Given the description of an element on the screen output the (x, y) to click on. 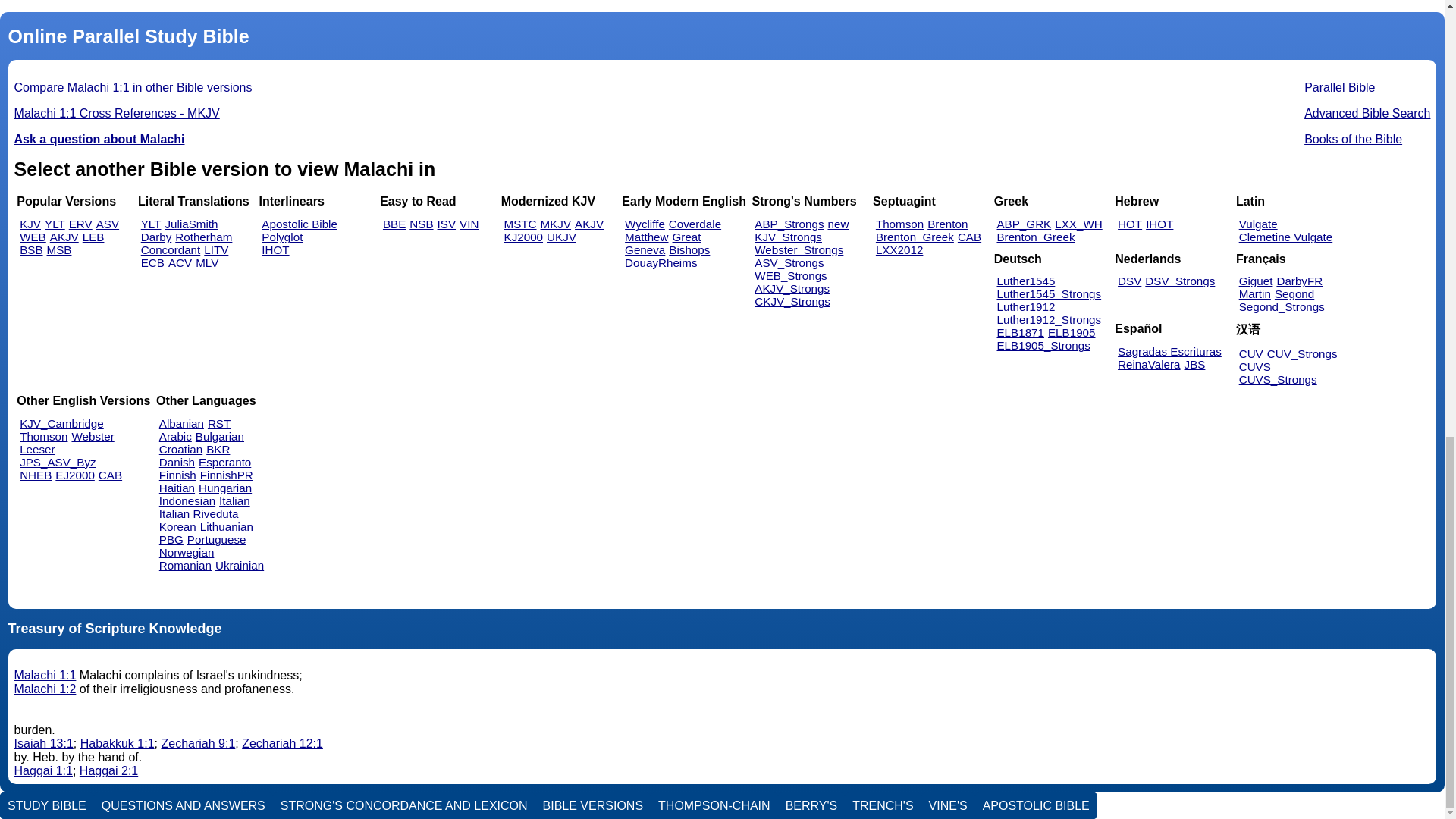
King James Version (30, 223)
WEB (33, 236)
Malachi 1:1 Cross References - MKJV (116, 113)
Concordant (170, 249)
Ask a question about Malachi (99, 138)
ERV (80, 223)
LITV (215, 249)
Malachi 1:1 Online Parallel Study Bible (132, 87)
LEB (93, 236)
BSB (31, 249)
Compare Malachi 1:1 in other Bible versions (132, 87)
YLT (151, 223)
ASV (107, 223)
KJV (30, 223)
Young's Literal Translation (55, 223)
